Given the description of an element on the screen output the (x, y) to click on. 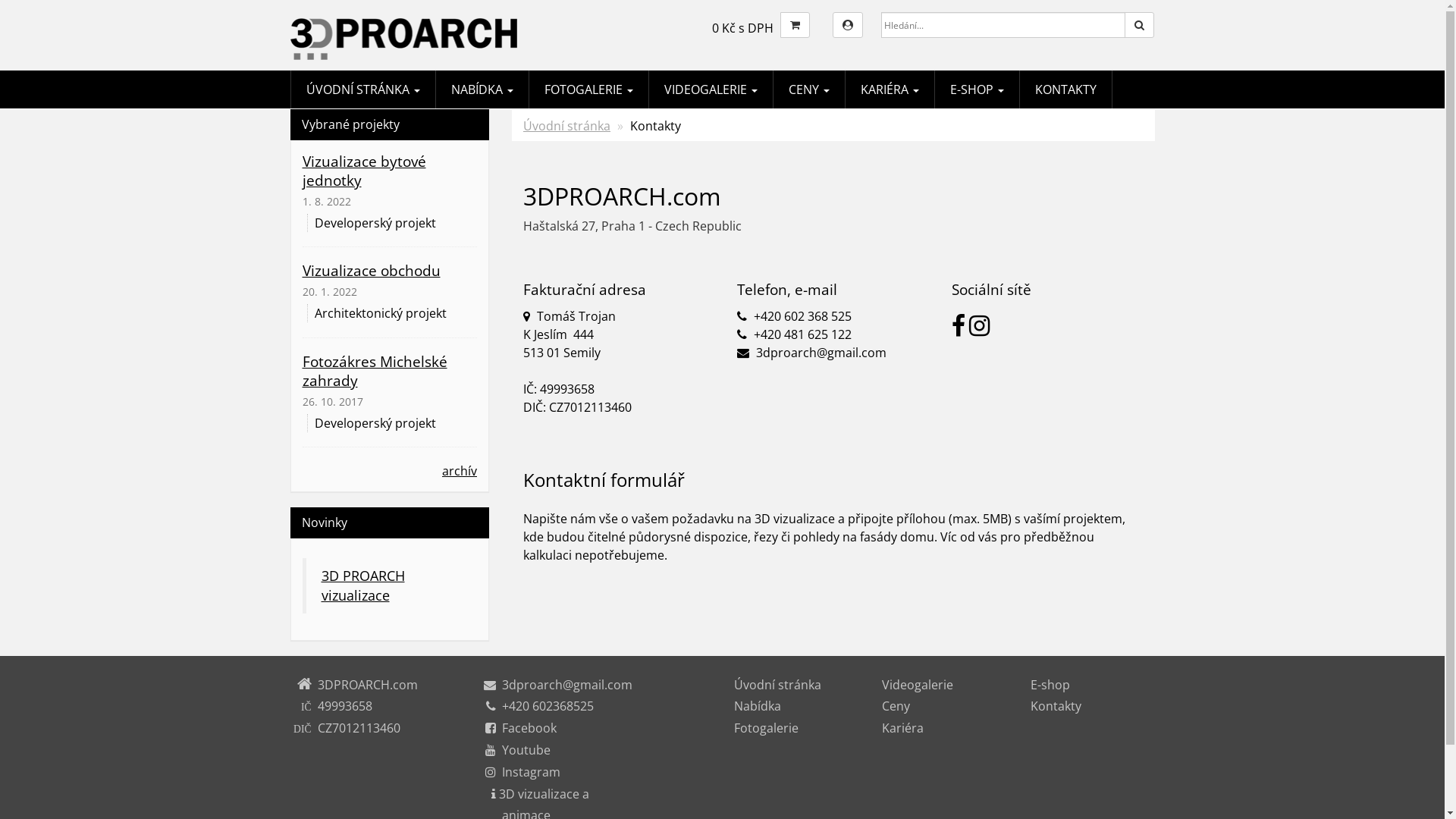
Facebook Element type: text (529, 727)
Fotogalerie Element type: text (766, 727)
KONTAKTY Element type: text (1064, 89)
CENY Element type: text (808, 89)
Videogalerie Element type: text (917, 684)
VIDEOGALERIE Element type: text (710, 89)
FOTOGALERIE Element type: text (588, 89)
3D PROARCH vizualizace Element type: text (362, 585)
E-SHOP Element type: text (976, 89)
Instagram Element type: text (531, 771)
Ceny Element type: text (895, 705)
Kontakty Element type: text (1055, 705)
E-shop Element type: text (1050, 684)
Vizualizace obchodu Element type: text (370, 270)
Youtube Element type: text (526, 749)
Hledat Element type: text (1139, 24)
